Given the description of an element on the screen output the (x, y) to click on. 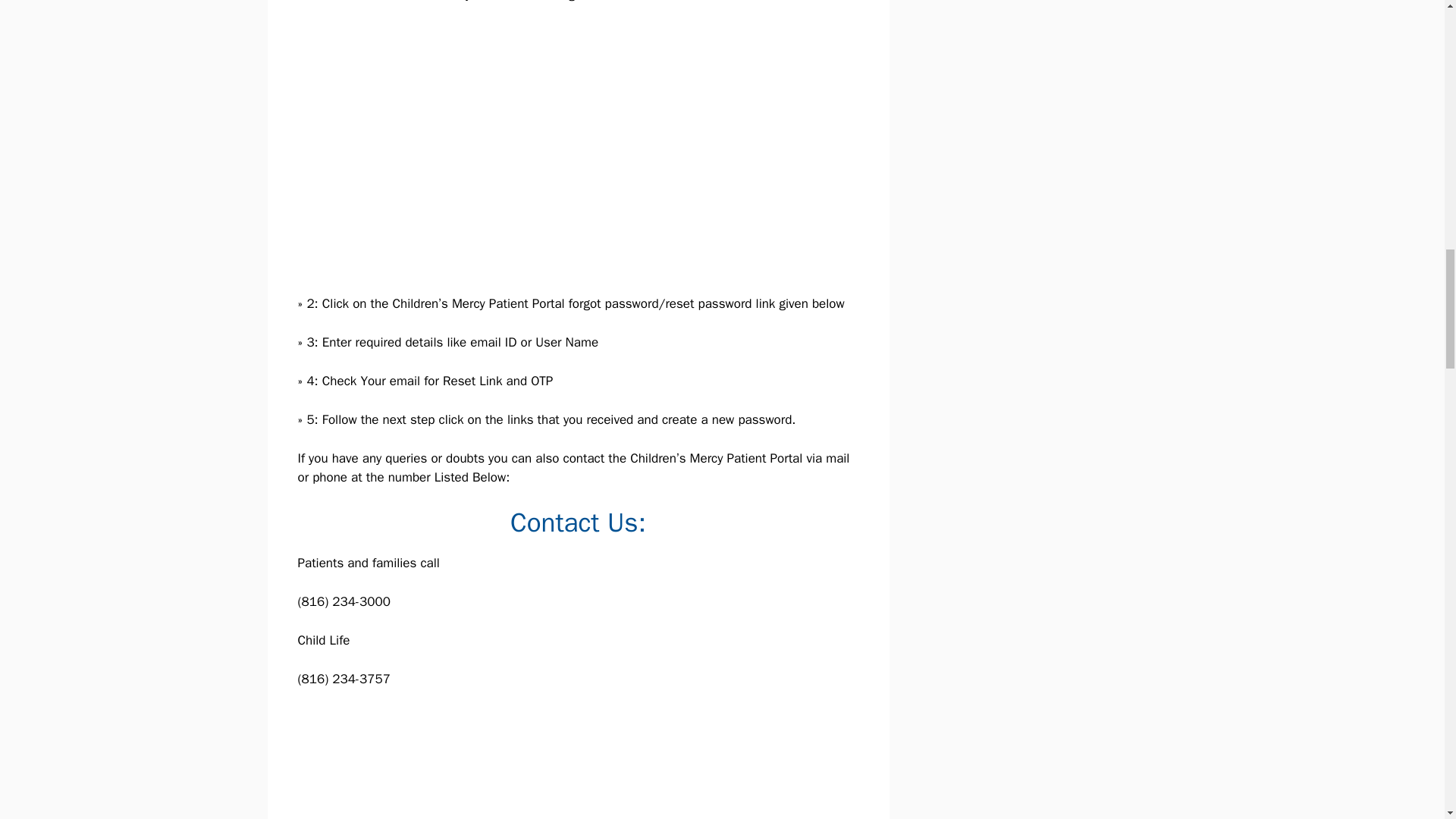
Official Website (660, 1)
Advertisement (588, 763)
